Given the description of an element on the screen output the (x, y) to click on. 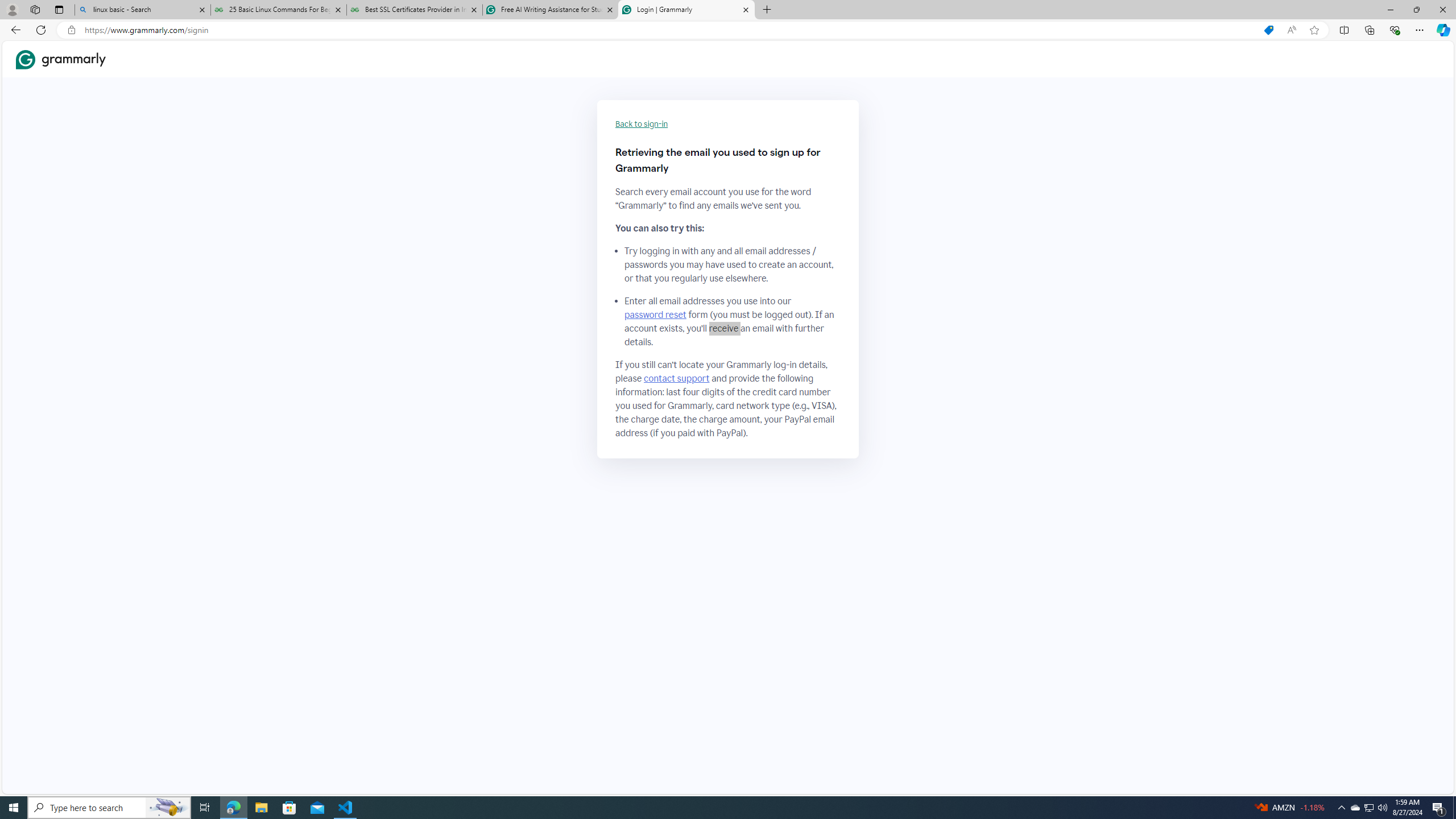
Free AI Writing Assistance for Students | Grammarly (550, 9)
25 Basic Linux Commands For Beginners - GeeksforGeeks (277, 9)
linux basic - Search (142, 9)
Best SSL Certificates Provider in India - GeeksforGeeks (414, 9)
Back to sign-in (641, 124)
